Given the description of an element on the screen output the (x, y) to click on. 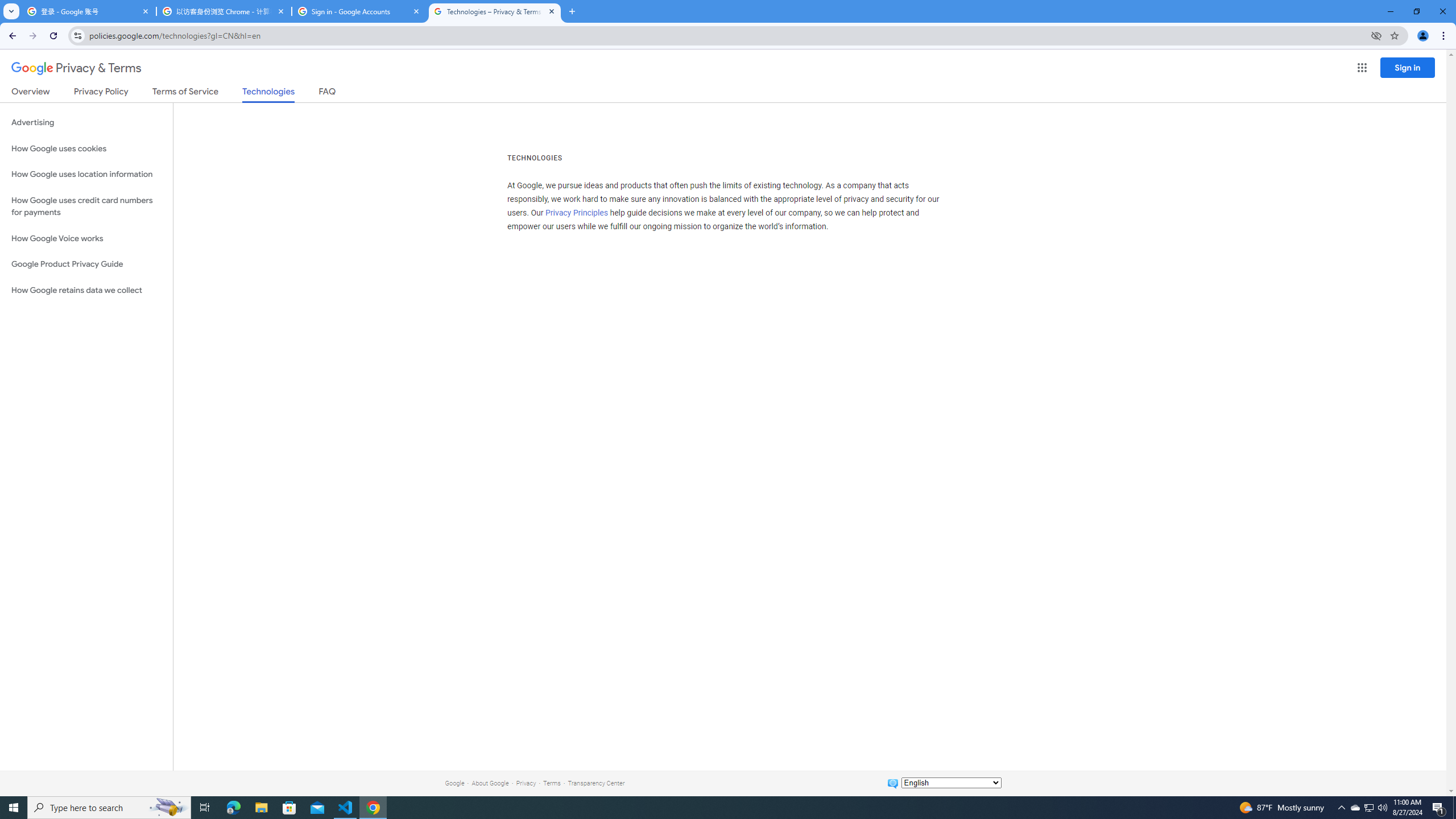
How Google uses cookies (86, 148)
How Google uses credit card numbers for payments (86, 206)
Sign in - Google Accounts (359, 11)
About Google (490, 783)
